Given the description of an element on the screen output the (x, y) to click on. 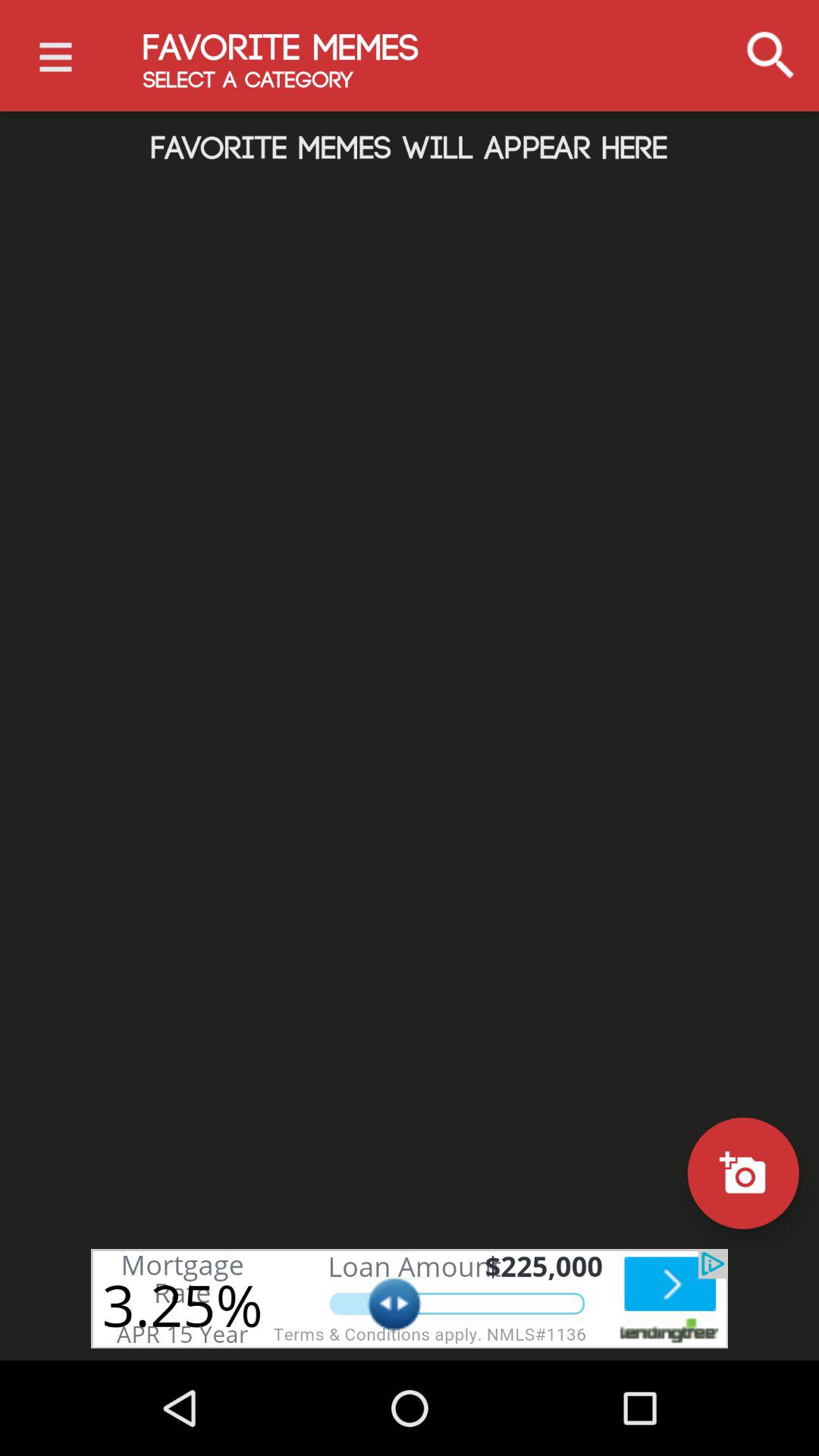
click advertisement to go to advertisement page (409, 1298)
